Given the description of an element on the screen output the (x, y) to click on. 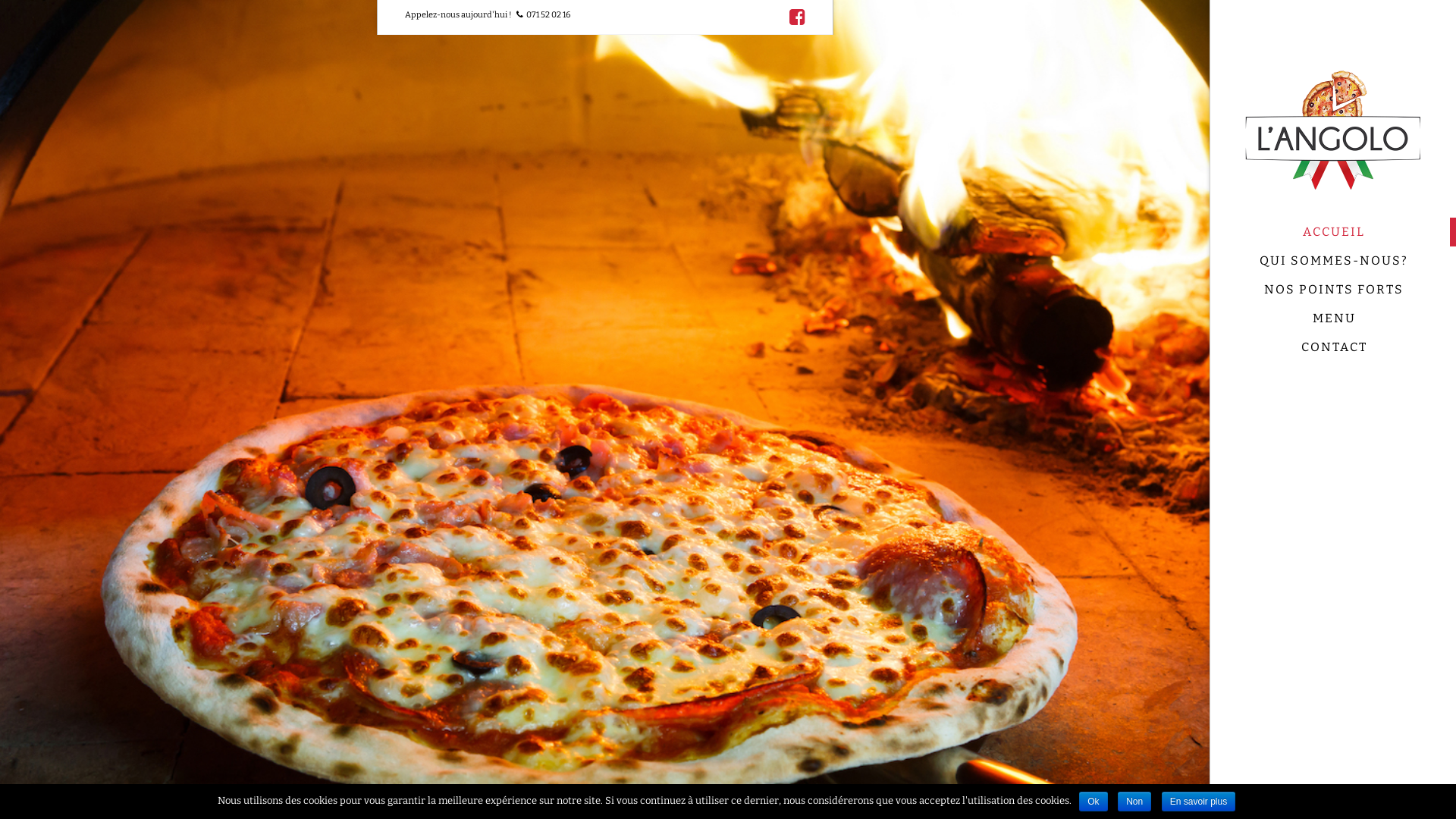
Facebook Element type: hover (796, 16)
En savoir plus Element type: text (1198, 801)
Ok Element type: text (1093, 801)
Non Element type: text (1134, 801)
